Given the description of an element on the screen output the (x, y) to click on. 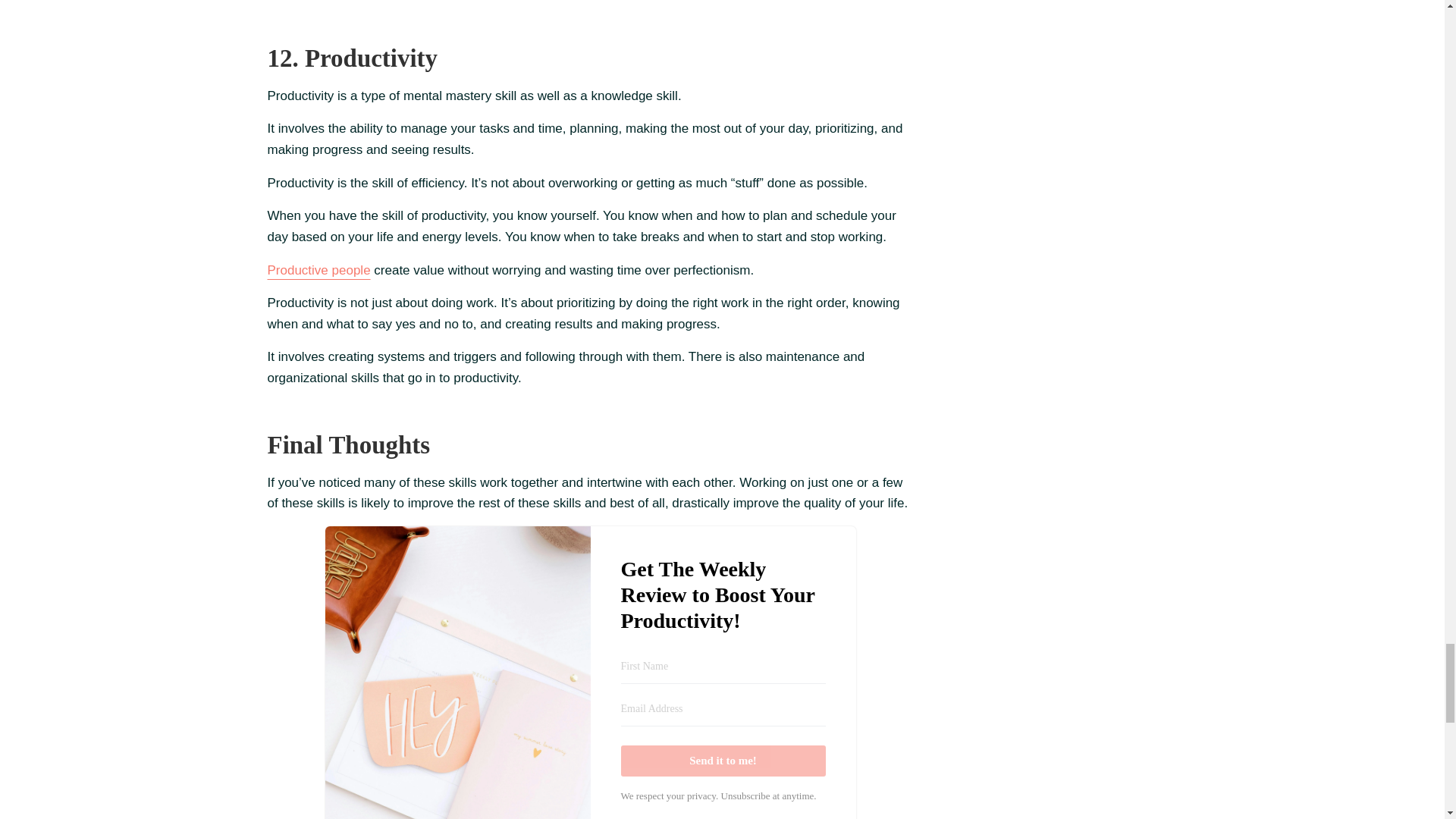
Send it to me! (722, 760)
Productive people (317, 269)
